Given the description of an element on the screen output the (x, y) to click on. 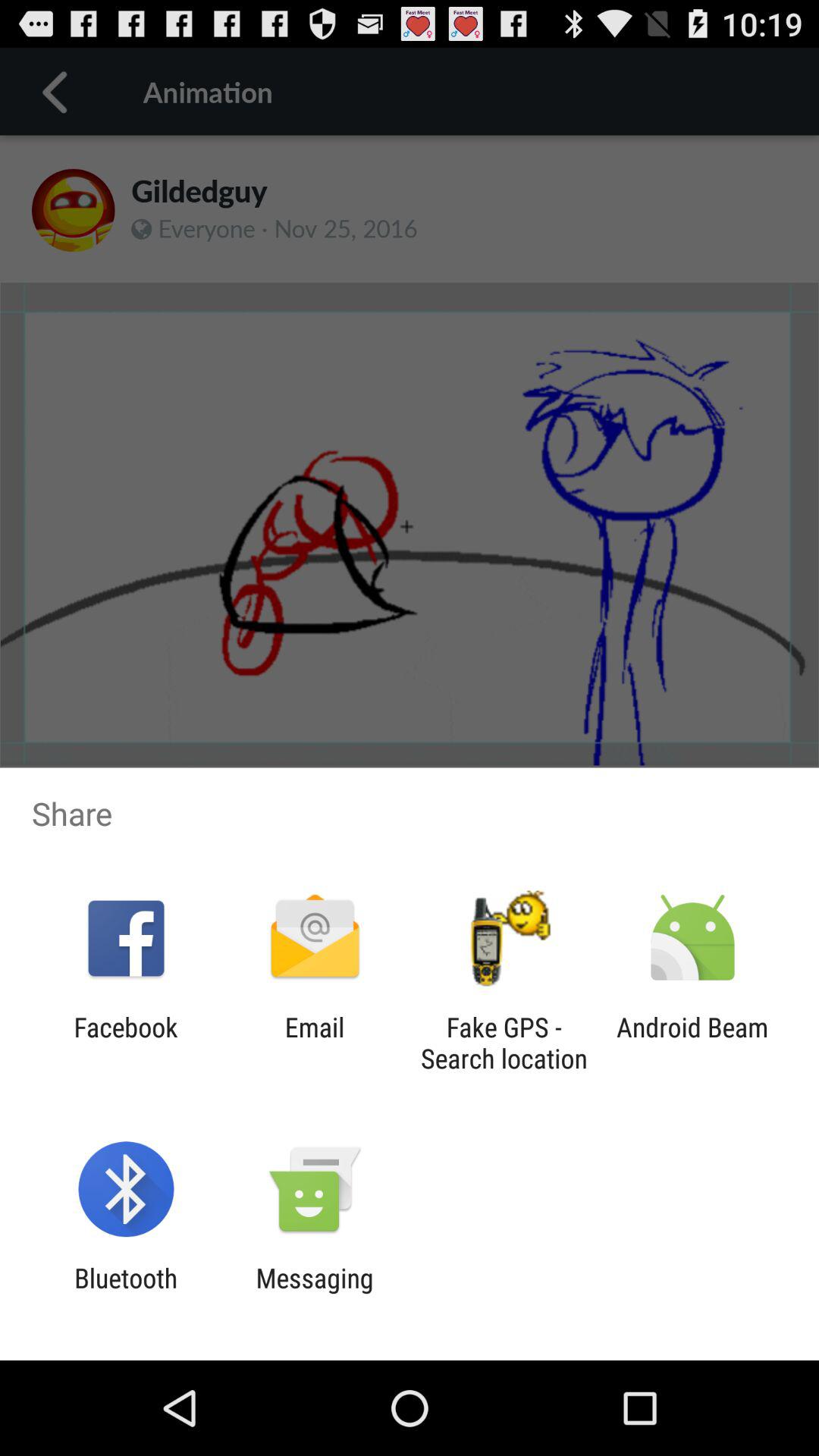
turn on the bluetooth (125, 1293)
